Given the description of an element on the screen output the (x, y) to click on. 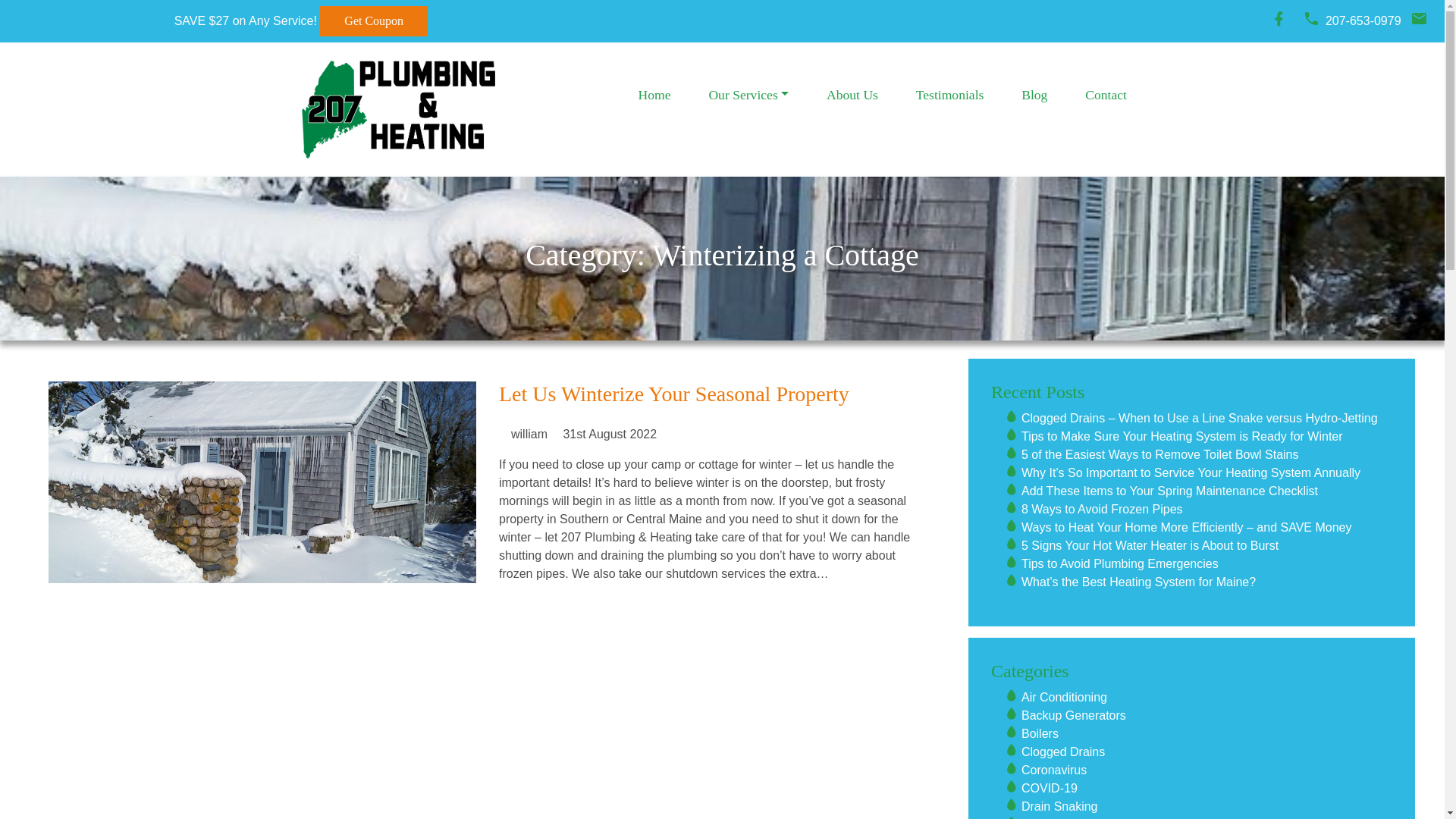
Let Us Winterize Your Seasonal Property Element type: text (673, 393)
5 Signs Your Hot Water Heater is About to Burst Element type: text (1149, 545)
Testimonials Element type: text (949, 94)
Coronavirus Element type: text (1053, 769)
Home Element type: text (654, 94)
COVID-19 Element type: text (1049, 787)
Air Conditioning Element type: text (1064, 696)
Get Coupon Element type: text (373, 21)
5 of the Easiest Ways to Remove Toilet Bowl Stains Element type: text (1160, 454)
8 Ways to Avoid Frozen Pipes Element type: text (1102, 508)
About Us Element type: text (852, 94)
207-653-0979 Element type: text (1363, 20)
Drain Snaking Element type: text (1059, 806)
Blog Element type: text (1034, 94)
Clogged Drains Element type: text (1062, 751)
Tips to Avoid Plumbing Emergencies Element type: text (1119, 563)
Our Services Element type: text (748, 94)
Backup Generators Element type: text (1073, 715)
Contact Element type: text (1106, 94)
Tips to Make Sure Your Heating System is Ready for Winter Element type: text (1182, 435)
Add These Items to Your Spring Maintenance Checklist Element type: text (1169, 490)
Boilers Element type: text (1039, 733)
